Given the description of an element on the screen output the (x, y) to click on. 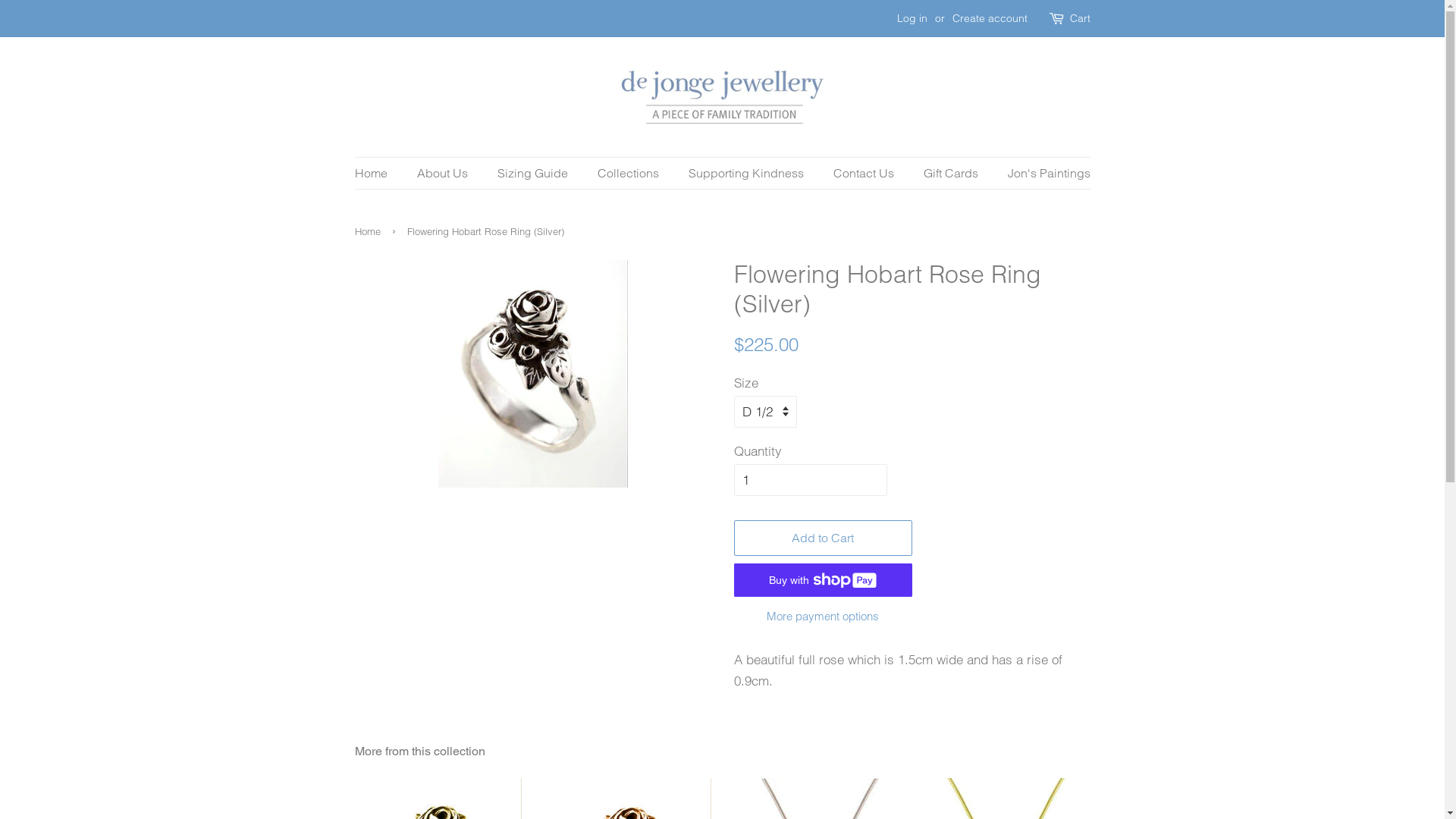
Supporting Kindness Element type: text (747, 172)
Create account Element type: text (989, 18)
Home Element type: text (369, 231)
More payment options Element type: text (823, 615)
Jon's Paintings Element type: text (1043, 172)
Log in Element type: text (911, 18)
Gift Cards Element type: text (951, 172)
Cart Element type: text (1079, 18)
Sizing Guide Element type: text (533, 172)
About Us Element type: text (443, 172)
Home Element type: text (378, 172)
Contact Us Element type: text (865, 172)
Add to Cart Element type: text (823, 537)
Collections Element type: text (629, 172)
